Given the description of an element on the screen output the (x, y) to click on. 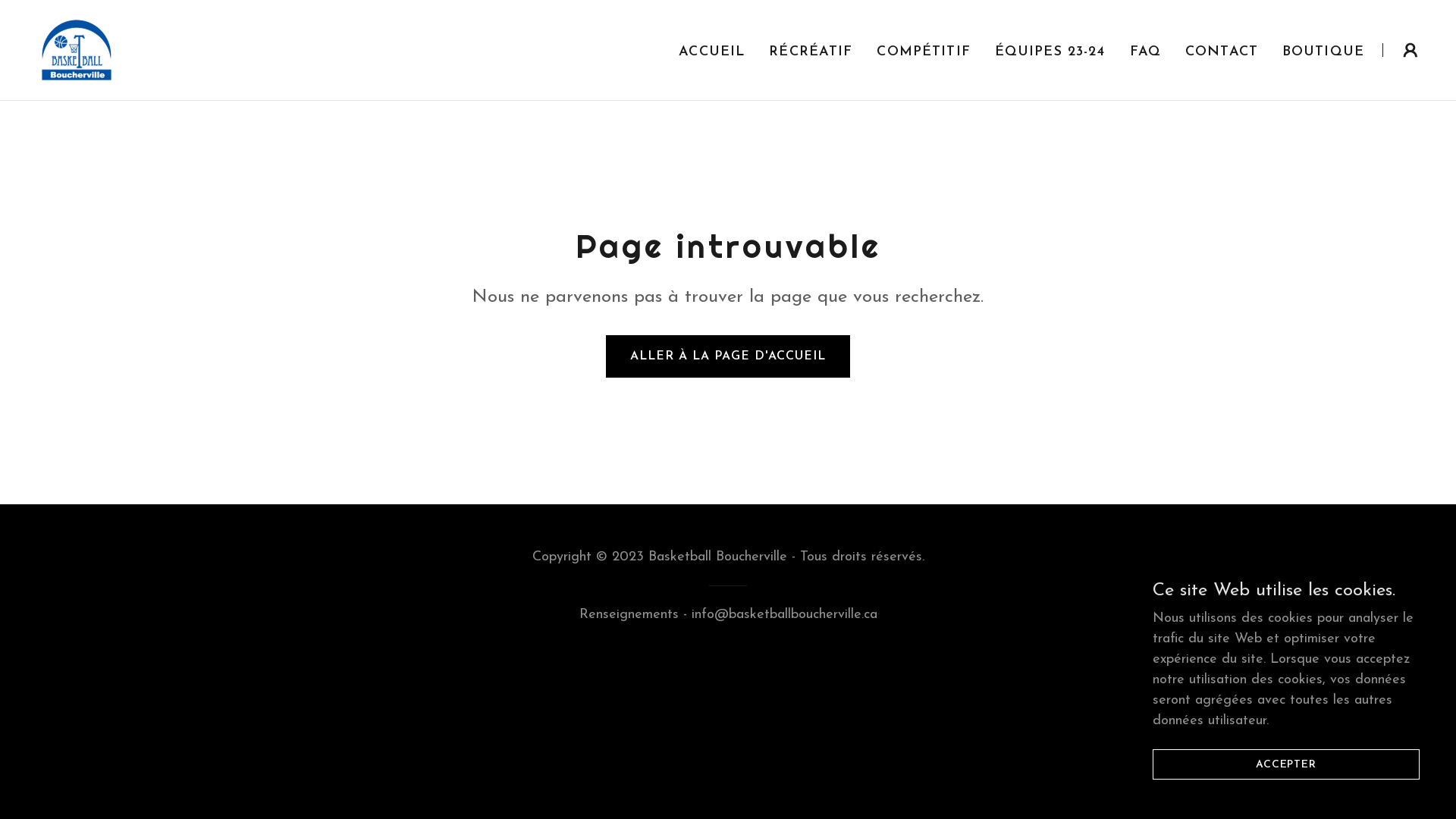
ACCUEIL Element type: text (711, 51)
ACCEPTER Element type: text (1285, 764)
CONTACT Element type: text (1221, 51)
FAQ Element type: text (1145, 51)
Basketball Boucherville Element type: hover (76, 48)
BOUTIQUE Element type: text (1322, 51)
